Given the description of an element on the screen output the (x, y) to click on. 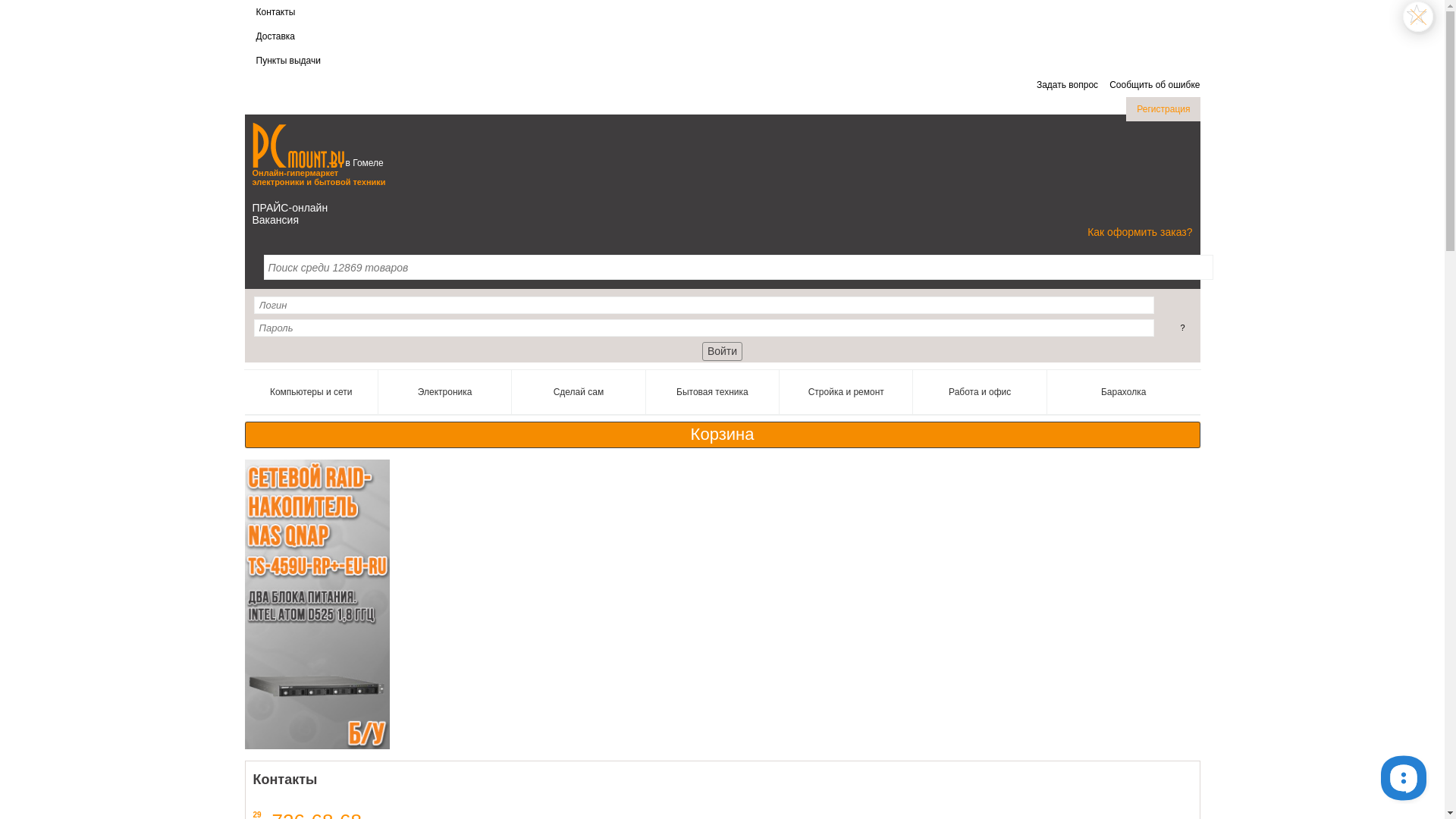
? Element type: text (1181, 327)
Network Storage NAS QNAP Element type: hover (316, 604)
__replain_widget_iframe Element type: hover (1402, 776)
PCmount Element type: hover (297, 145)
